Given the description of an element on the screen output the (x, y) to click on. 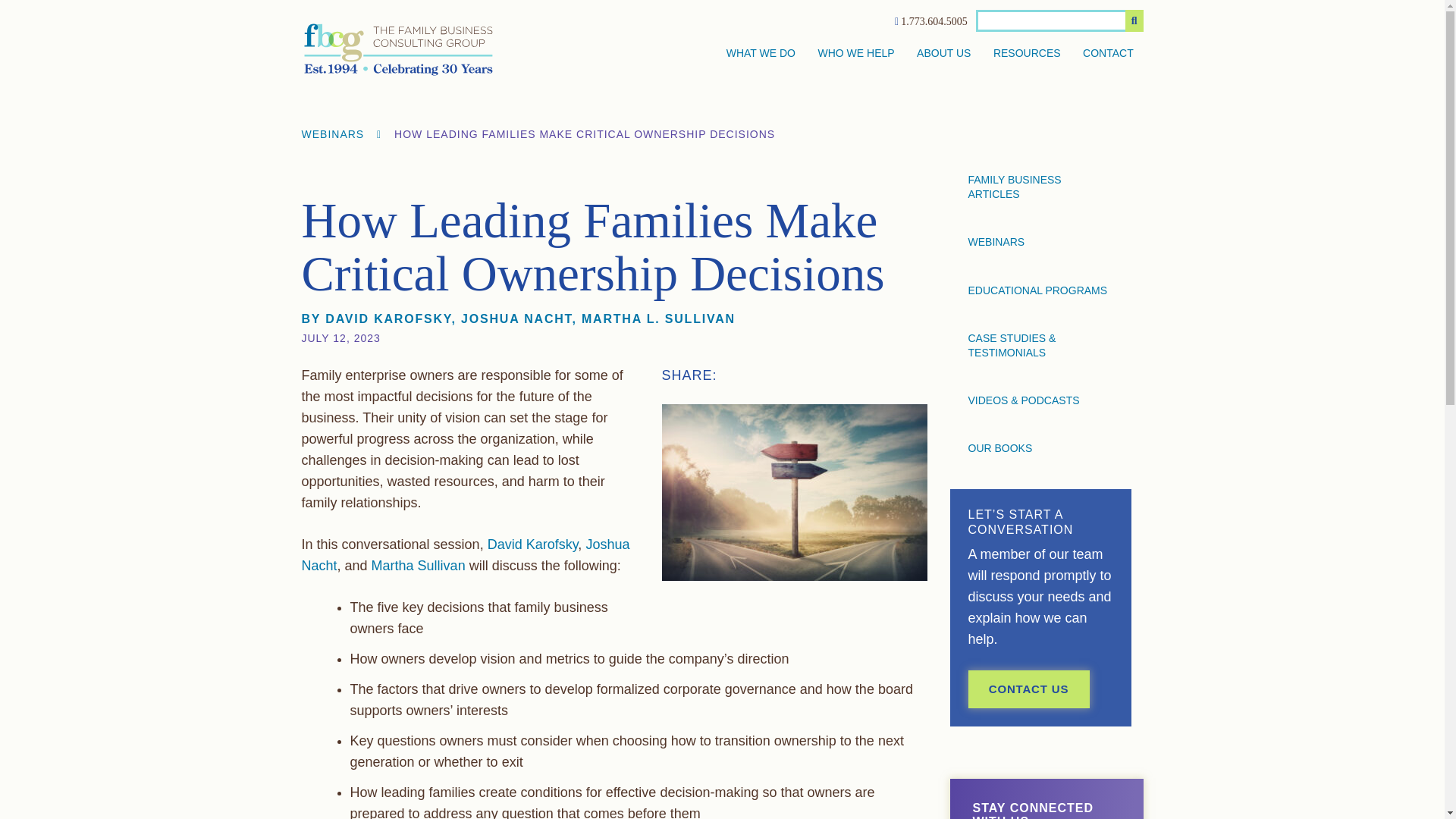
WEBINARS (333, 133)
1.773.604.5005 (934, 21)
WHO WE HELP (854, 53)
JOSHUA NACHT (516, 318)
RESOURCES (1026, 53)
DAVID KAROFSKY (387, 318)
WHAT WE DO (760, 53)
CONTACT (1108, 53)
ABOUT US (944, 53)
